Given the description of an element on the screen output the (x, y) to click on. 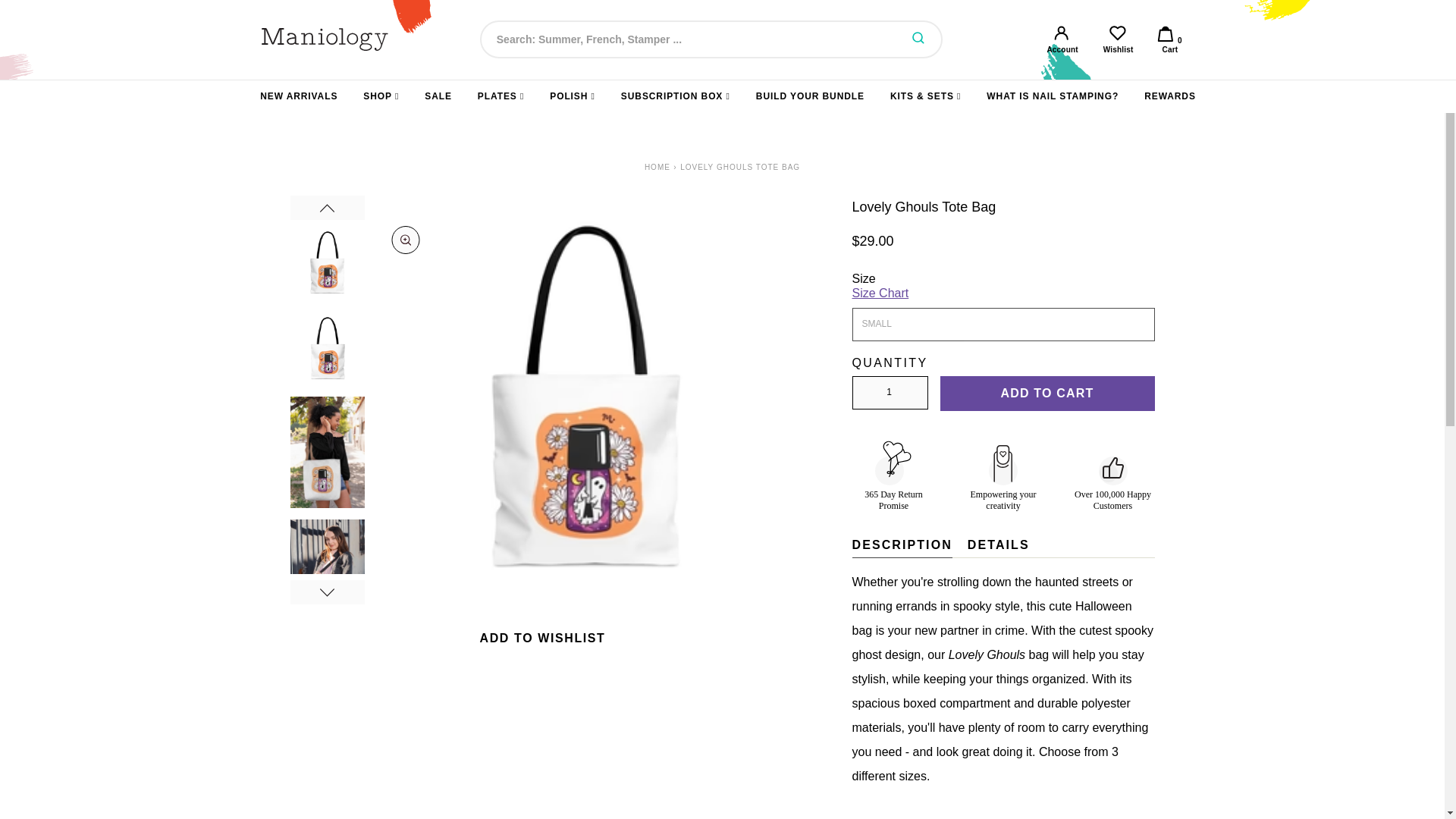
SEARCH (1170, 39)
Login (918, 38)
NEW ARRIVALS (1062, 39)
Home (299, 95)
1 (657, 166)
SHOP (889, 392)
Wishlist (380, 95)
Wishlist (1117, 39)
Account (1117, 39)
